Given the description of an element on the screen output the (x, y) to click on. 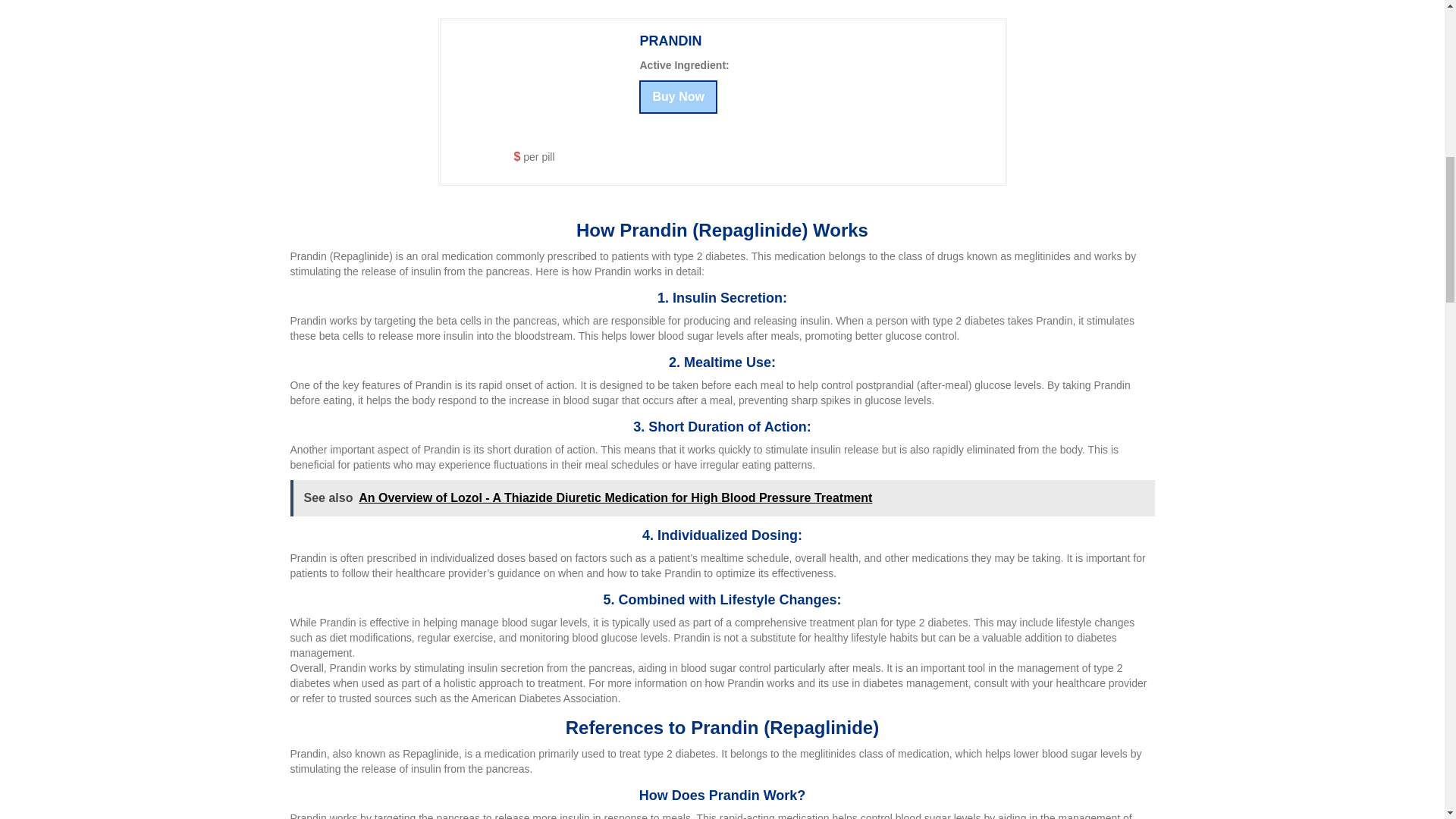
Buy Now (677, 96)
